Given the description of an element on the screen output the (x, y) to click on. 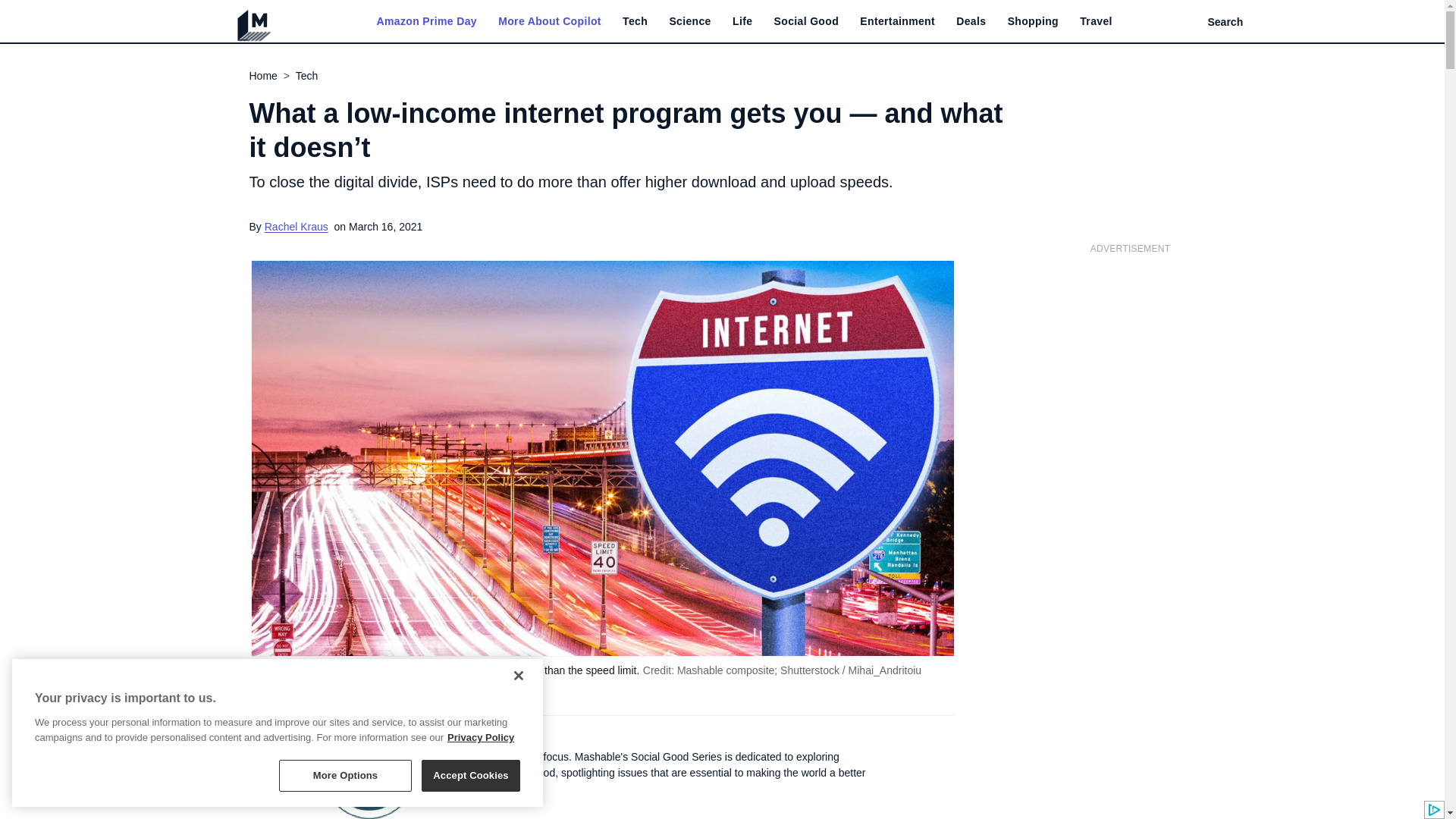
Travel (1096, 21)
Social Good (807, 21)
Science (689, 21)
Deals (970, 21)
Entertainment (897, 21)
Shopping (1032, 21)
Tech (635, 21)
Amazon Prime Day (425, 21)
Life (742, 21)
More About Copilot (549, 21)
